Given the description of an element on the screen output the (x, y) to click on. 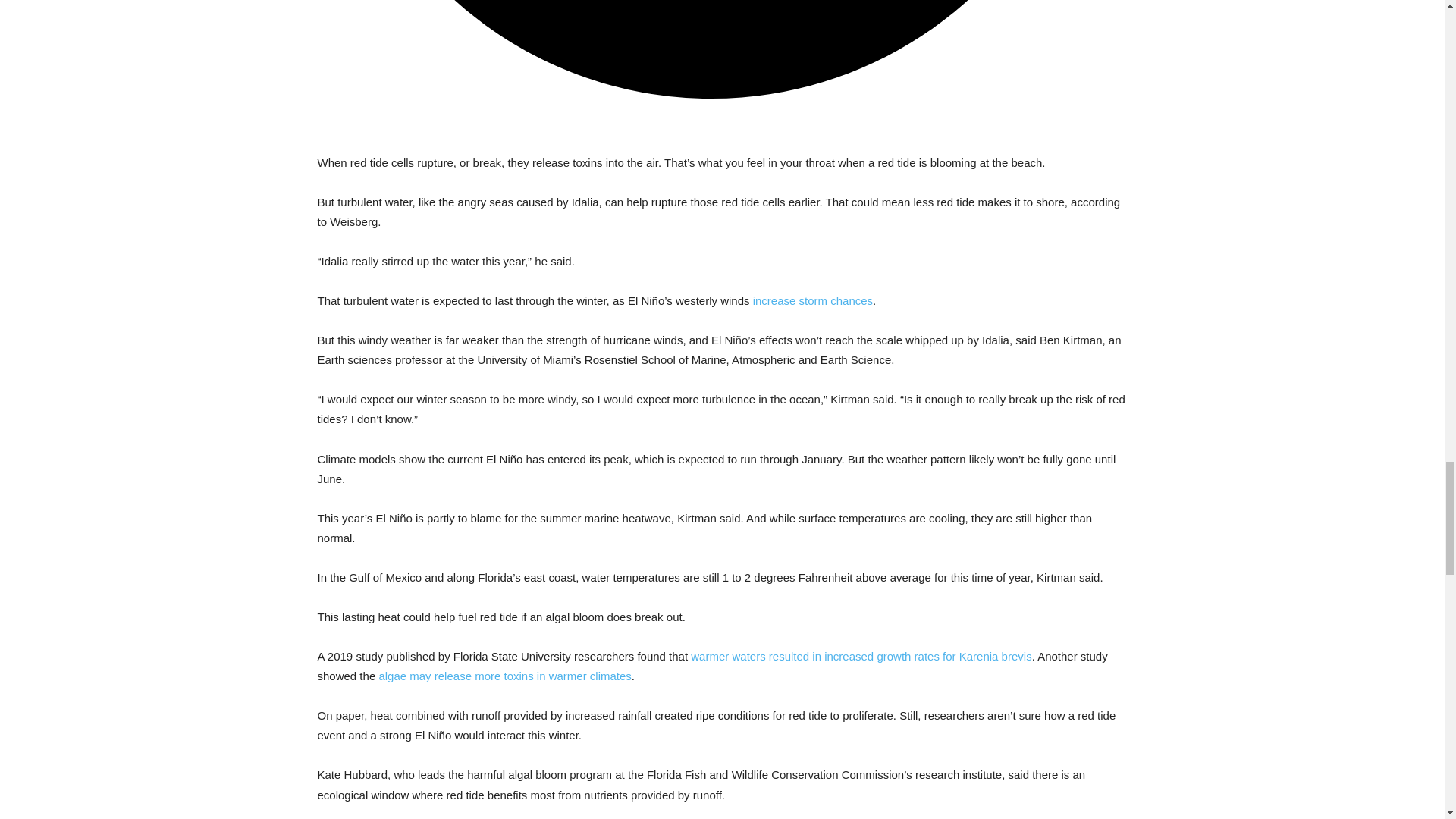
increase storm chances (812, 300)
Explore all your options (721, 64)
algae may release more toxins in warmer climates (503, 675)
